Given the description of an element on the screen output the (x, y) to click on. 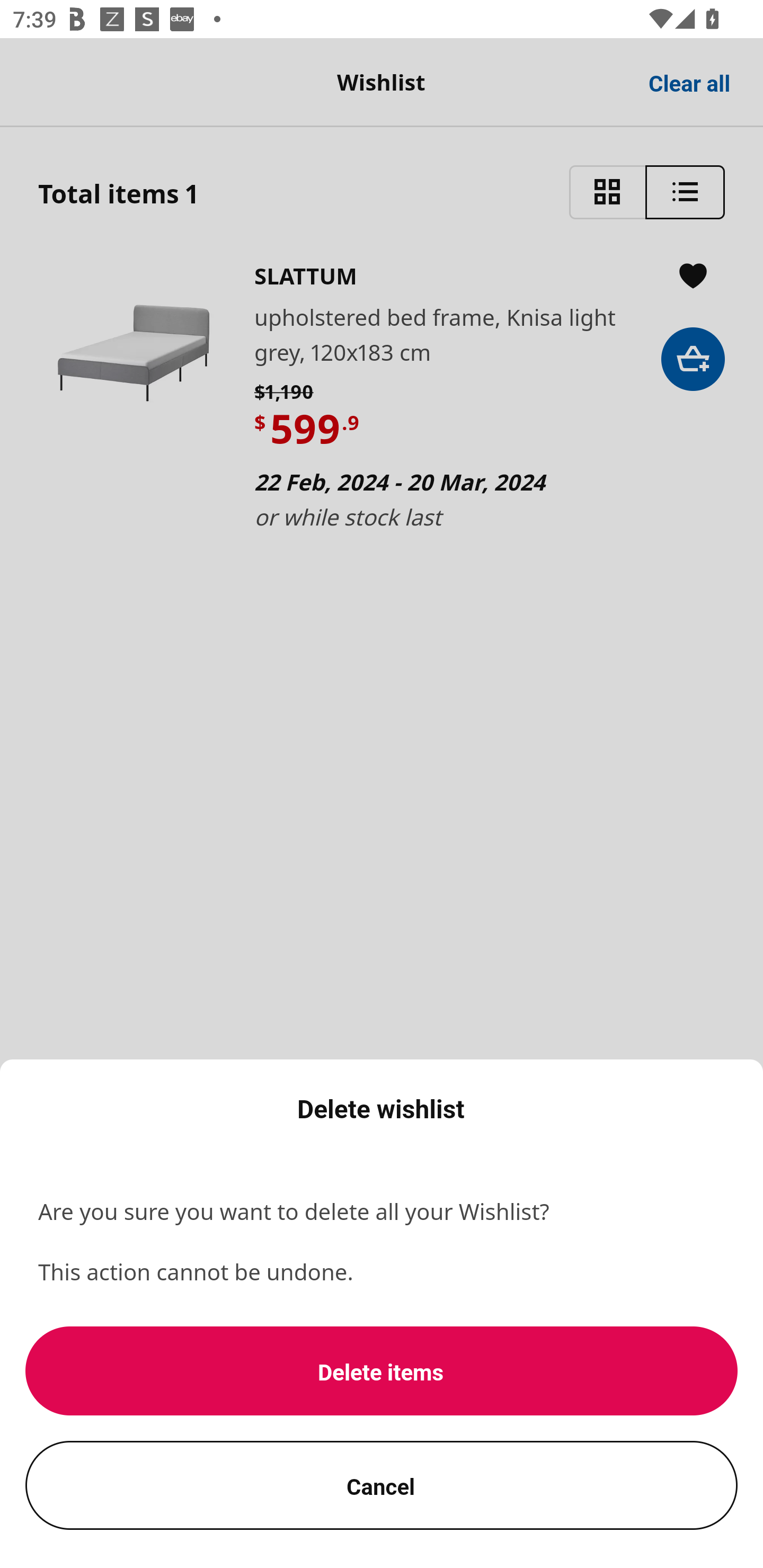
Delete items (381, 1370)
Cancel (381, 1485)
